Given the description of an element on the screen output the (x, y) to click on. 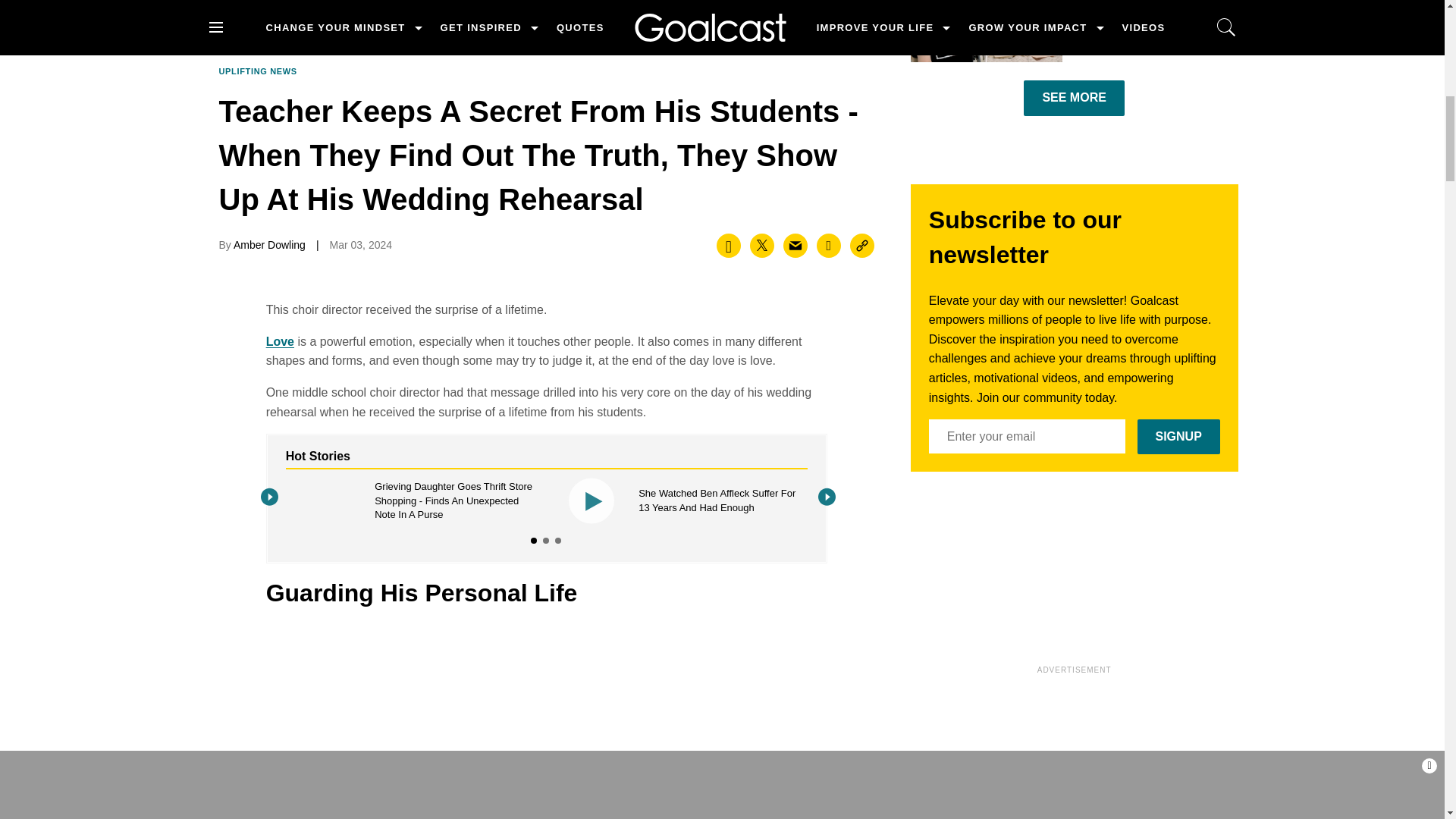
Copy this link to clipboard (862, 245)
